Given the description of an element on the screen output the (x, y) to click on. 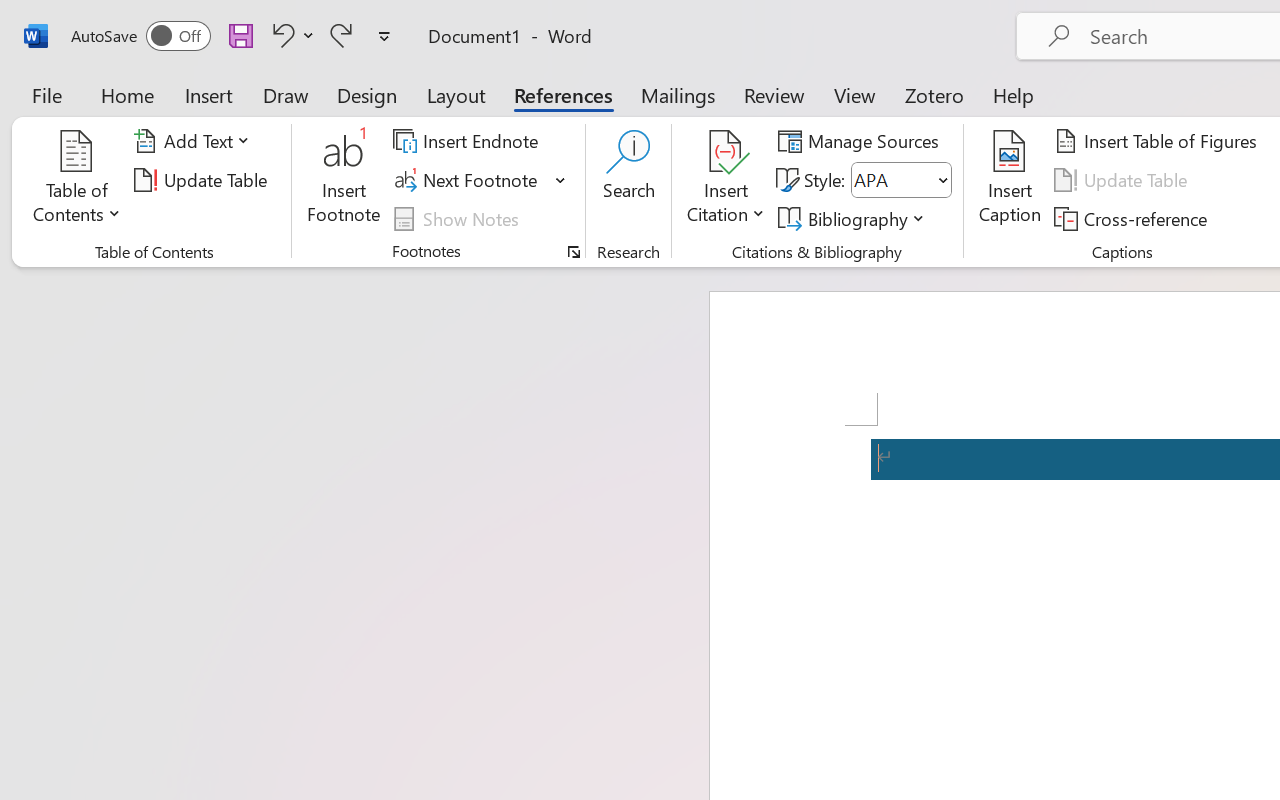
Table of Contents (77, 179)
Insert Table of Figures... (1158, 141)
Footnote and Endnote Dialog... (573, 252)
Update Table... (204, 179)
